Given the description of an element on the screen output the (x, y) to click on. 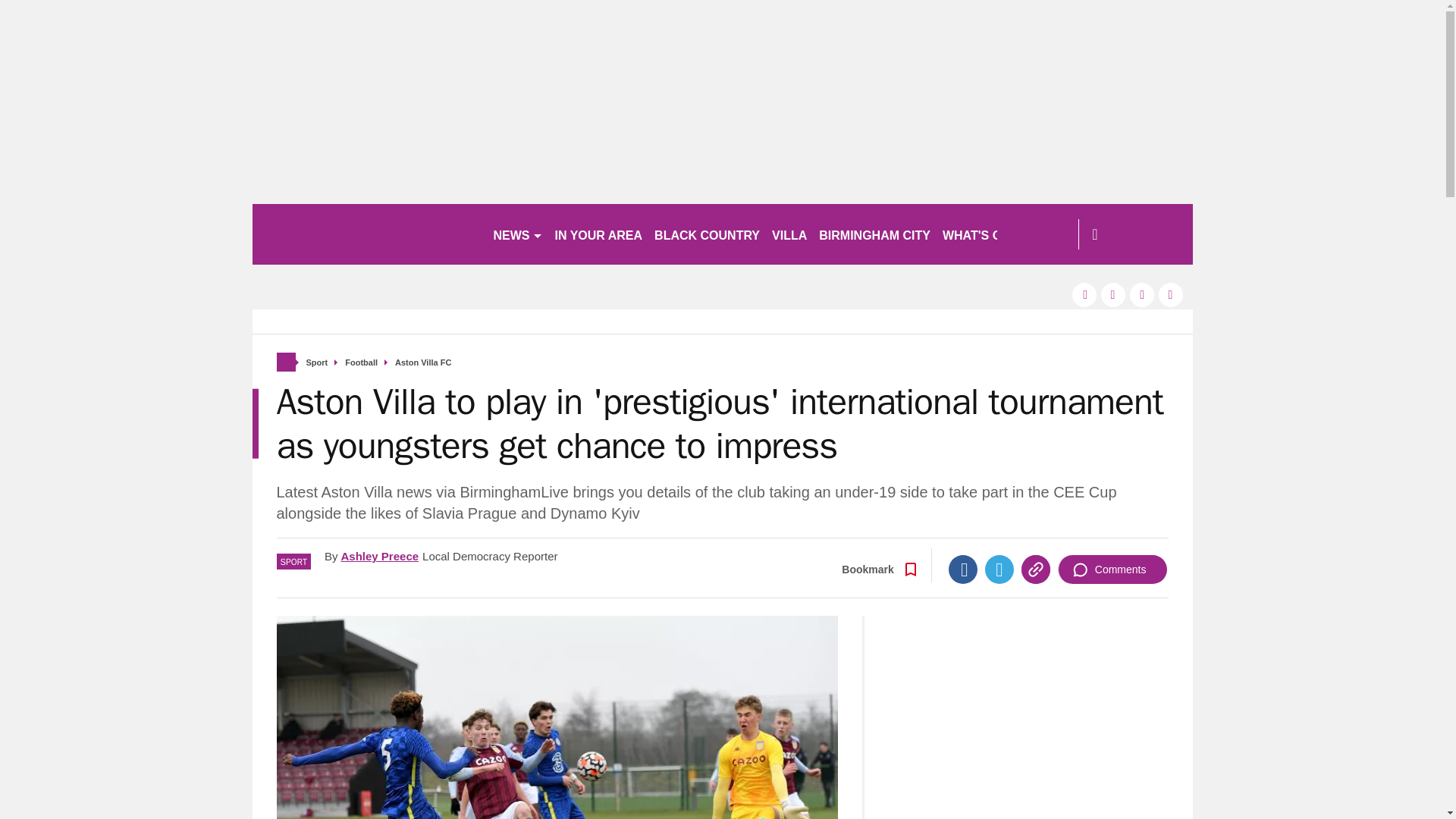
Comments (1112, 569)
facebook (1083, 294)
BLACK COUNTRY (706, 233)
twitter (1112, 294)
Twitter (999, 569)
BIRMINGHAM CITY (874, 233)
VILLA (788, 233)
NEWS (517, 233)
WHAT'S ON (982, 233)
Facebook (962, 569)
instagram (1170, 294)
IN YOUR AREA (598, 233)
birminghammail (365, 233)
tiktok (1141, 294)
